Given the description of an element on the screen output the (x, y) to click on. 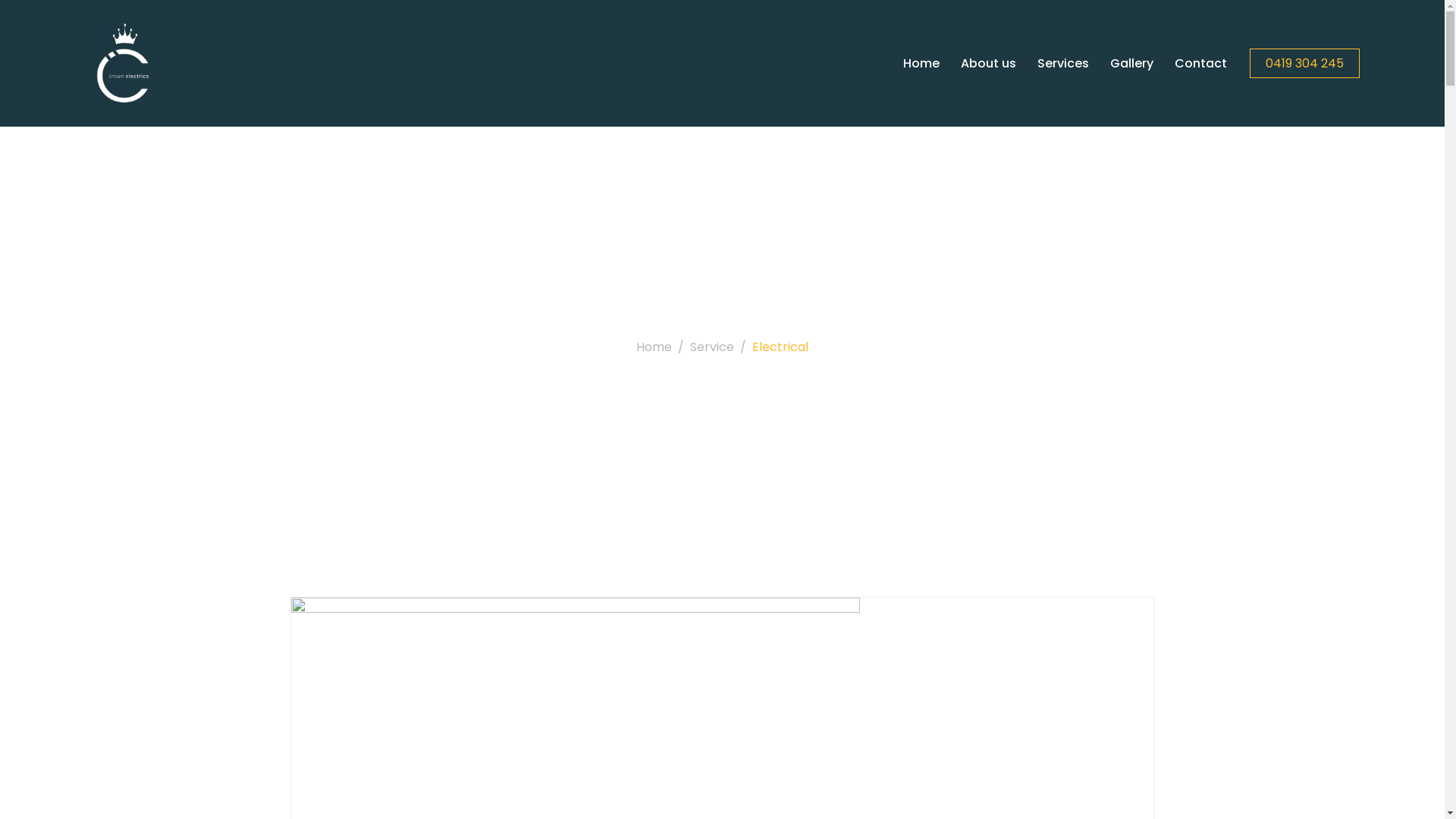
Home Element type: text (653, 346)
Gallery Element type: text (1122, 63)
Service Element type: text (712, 346)
About us Element type: text (978, 63)
Home Element type: text (911, 63)
Contact Element type: text (1190, 63)
Services Element type: text (1053, 63)
